Given the description of an element on the screen output the (x, y) to click on. 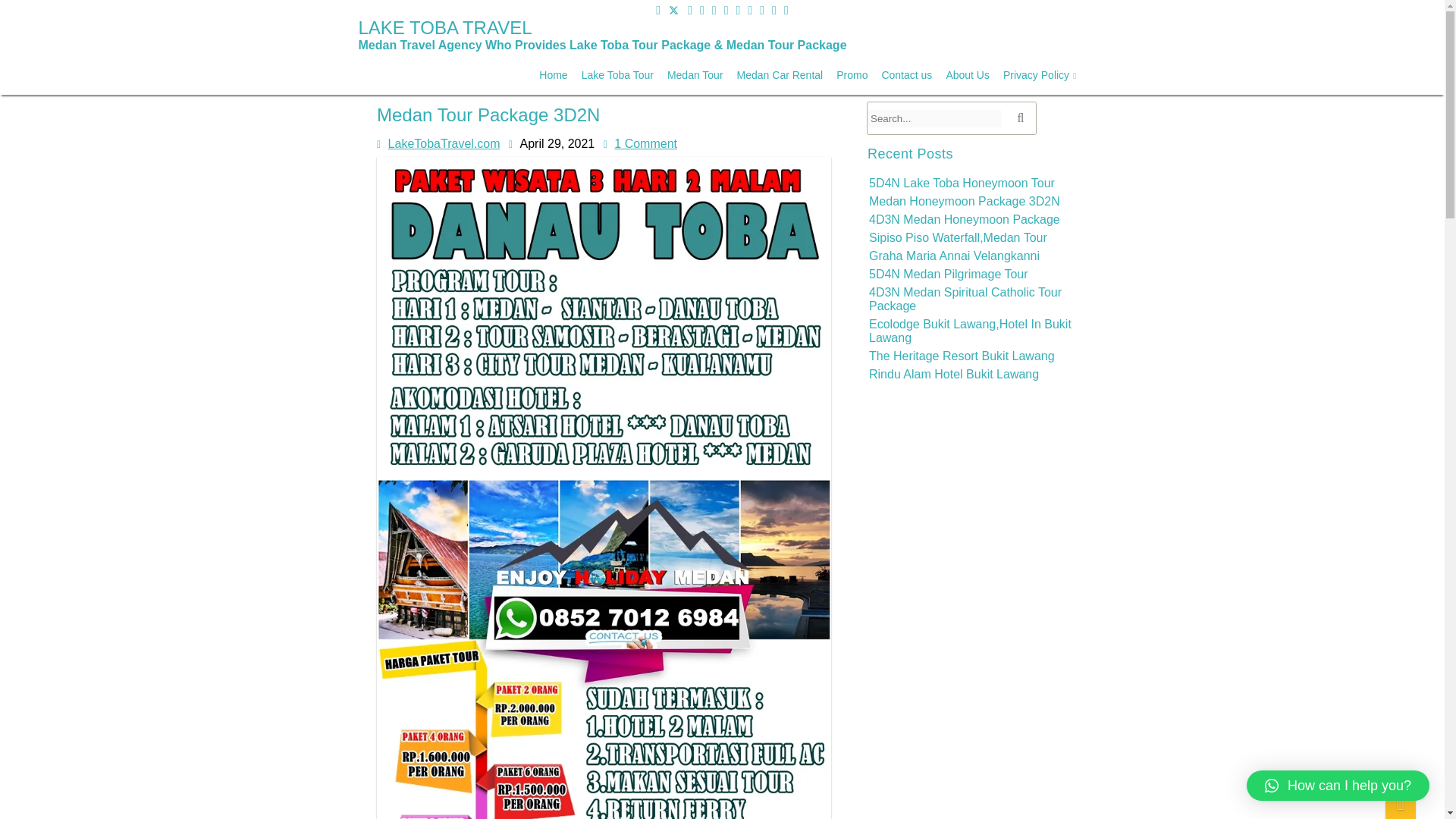
LakeTobaTravel.com (443, 143)
Medan Car Rental (780, 75)
About Us (967, 75)
Privacy Policy (1039, 75)
Contact us (906, 75)
LAKE TOBA TRAVEL (601, 34)
Medan Tour (694, 75)
LAKE TOBA TRAVEL (601, 24)
Promo (851, 75)
Posts by LakeTobaTravel.com (443, 143)
Lake Toba Tour (618, 75)
Home (552, 75)
1 Comment (645, 143)
